Given the description of an element on the screen output the (x, y) to click on. 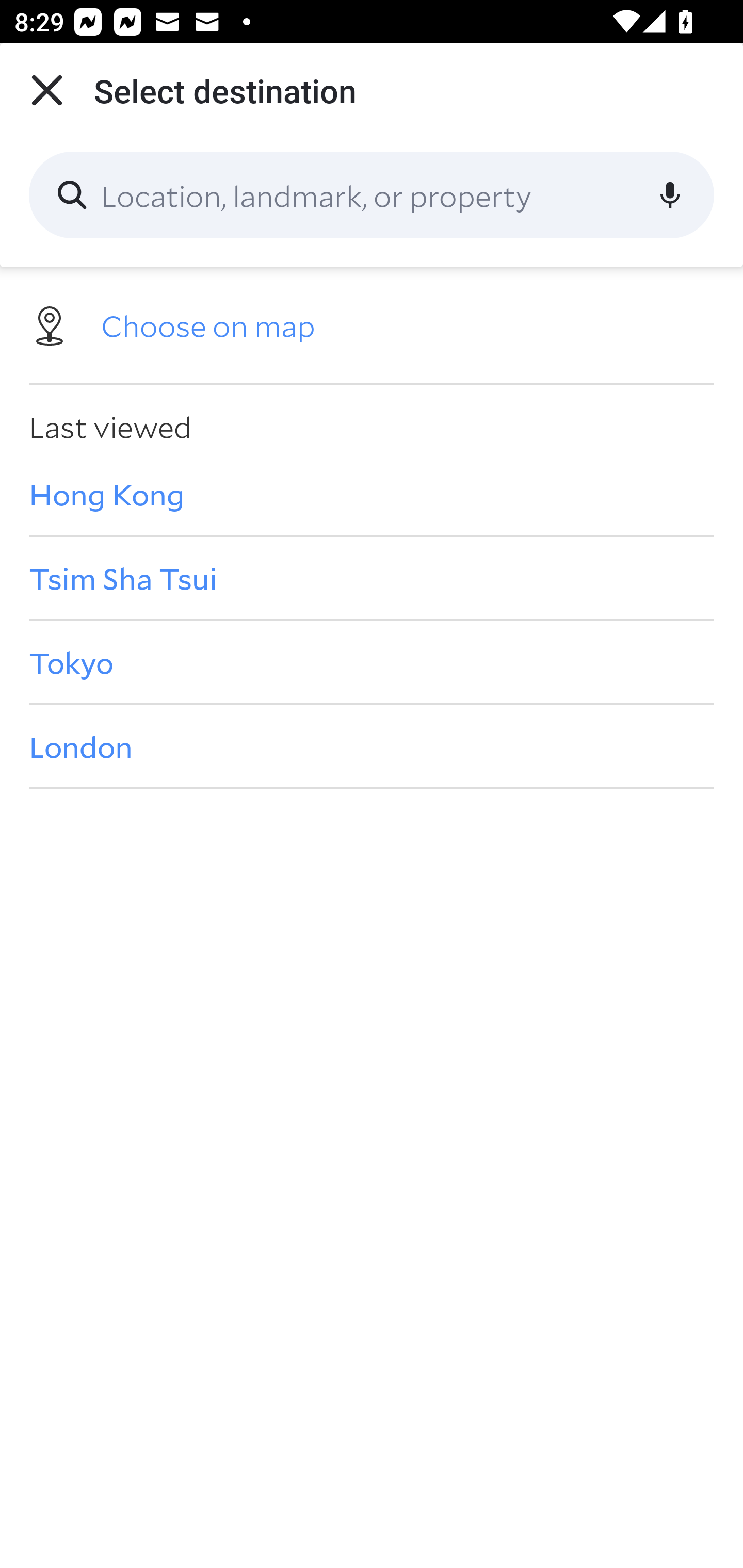
Location, landmark, or property (371, 195)
Choose on map (371, 324)
Hong Kong (371, 493)
Tsim Sha Tsui (371, 577)
Tokyo (371, 661)
London (371, 746)
